Given the description of an element on the screen output the (x, y) to click on. 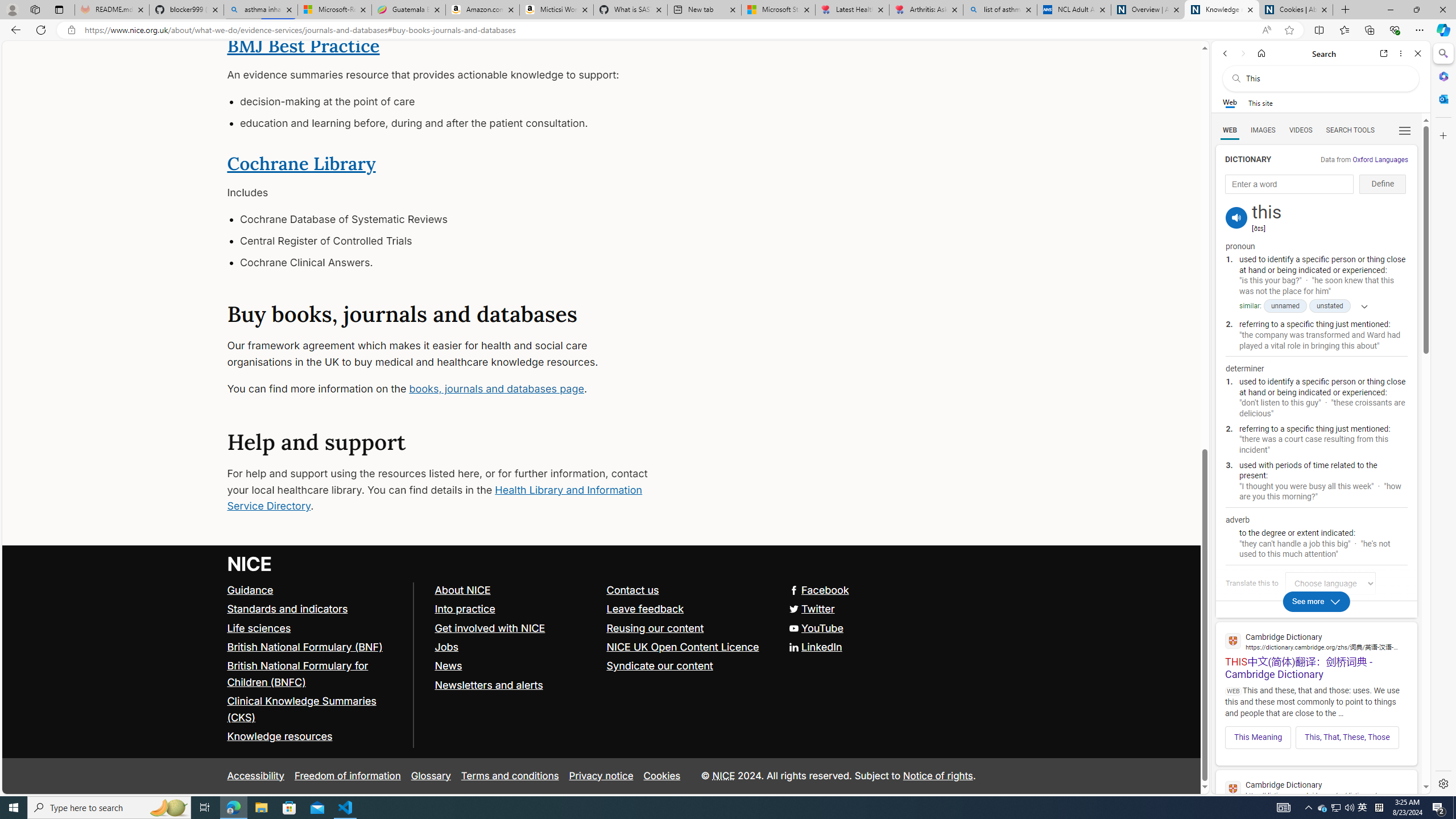
Glossary (430, 775)
list of asthma inhalers uk - Search (1000, 9)
Define (1382, 184)
Side bar (1443, 418)
Into practice (464, 608)
Leave feedback (686, 609)
YouTube (601, 628)
Newsletters and alerts (488, 684)
Reusing our content (654, 627)
Jobs (514, 647)
More options (1401, 53)
